Given the description of an element on the screen output the (x, y) to click on. 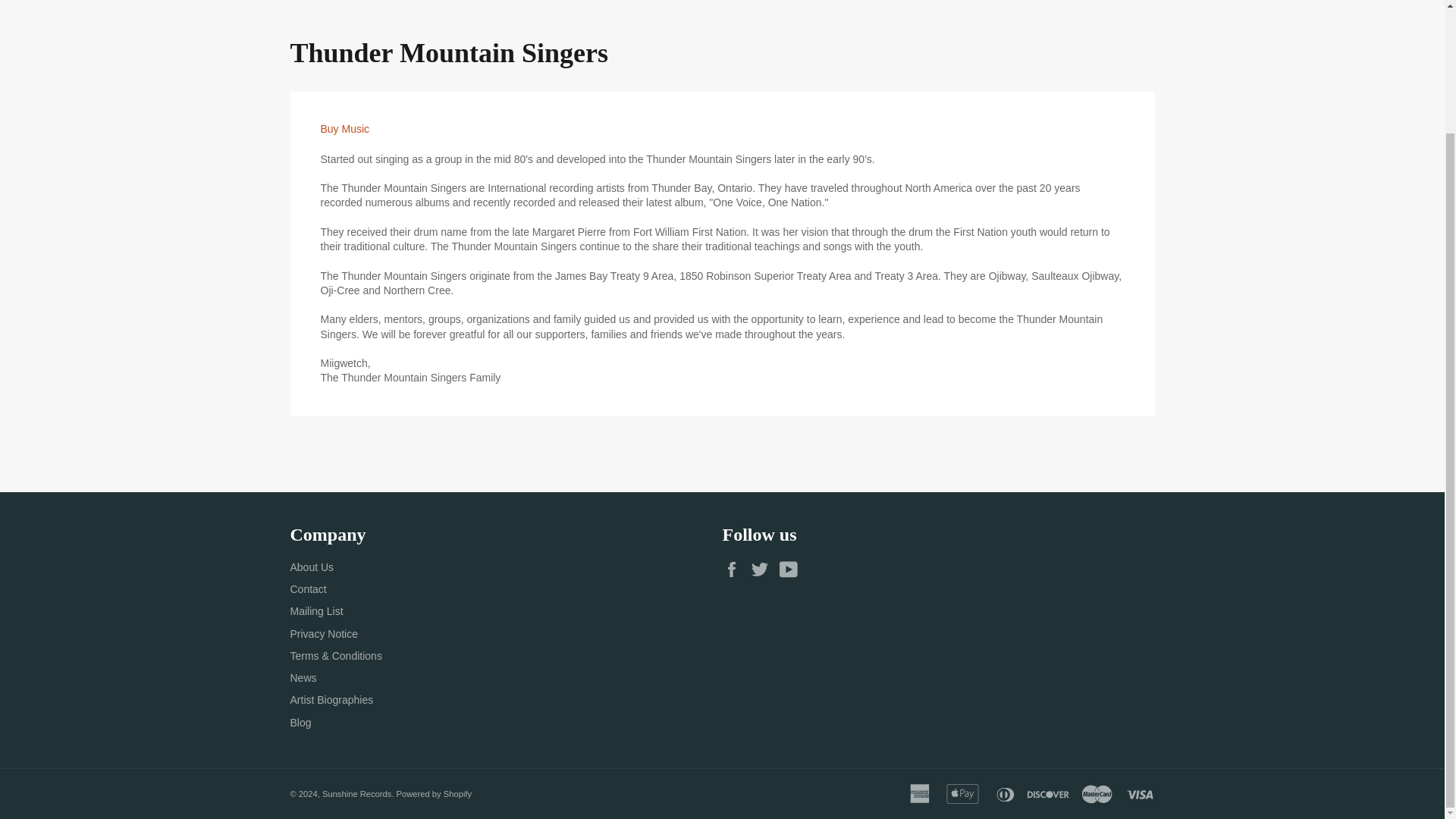
Sunshine Records on Twitter (763, 569)
Sunshine Records on YouTube (791, 569)
Sunshine Records on Facebook (735, 569)
Buy Music (344, 128)
